Given the description of an element on the screen output the (x, y) to click on. 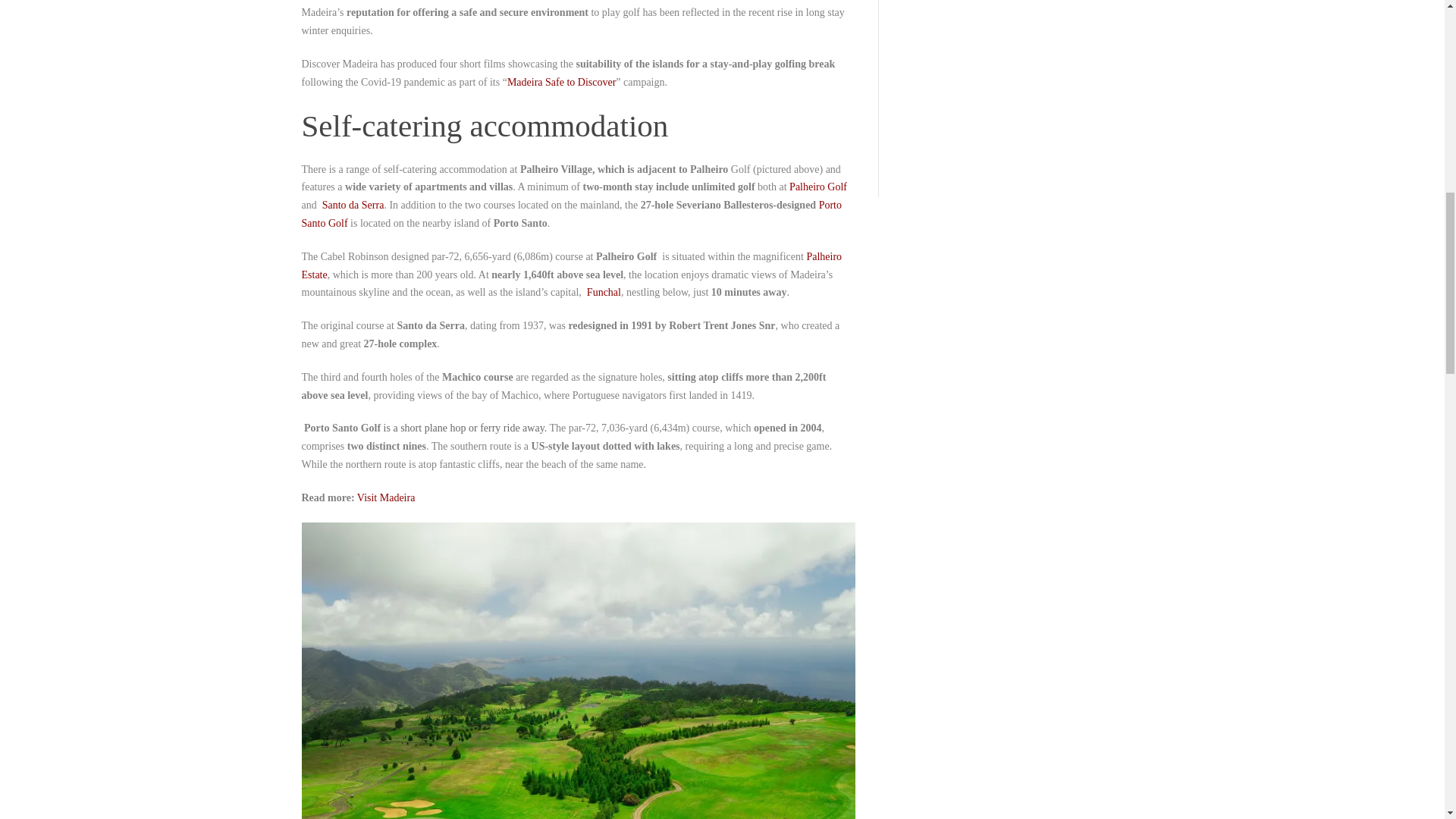
Palheiro Golf (818, 186)
Visit Madeira (385, 497)
Porto Santo Golf (571, 214)
Palheiro Estate (572, 265)
Santo da Serra (352, 204)
Madeira Safe to Discover (560, 81)
Funchal (603, 292)
is a short plane hop or ferry ride away.  (467, 428)
